Given the description of an element on the screen output the (x, y) to click on. 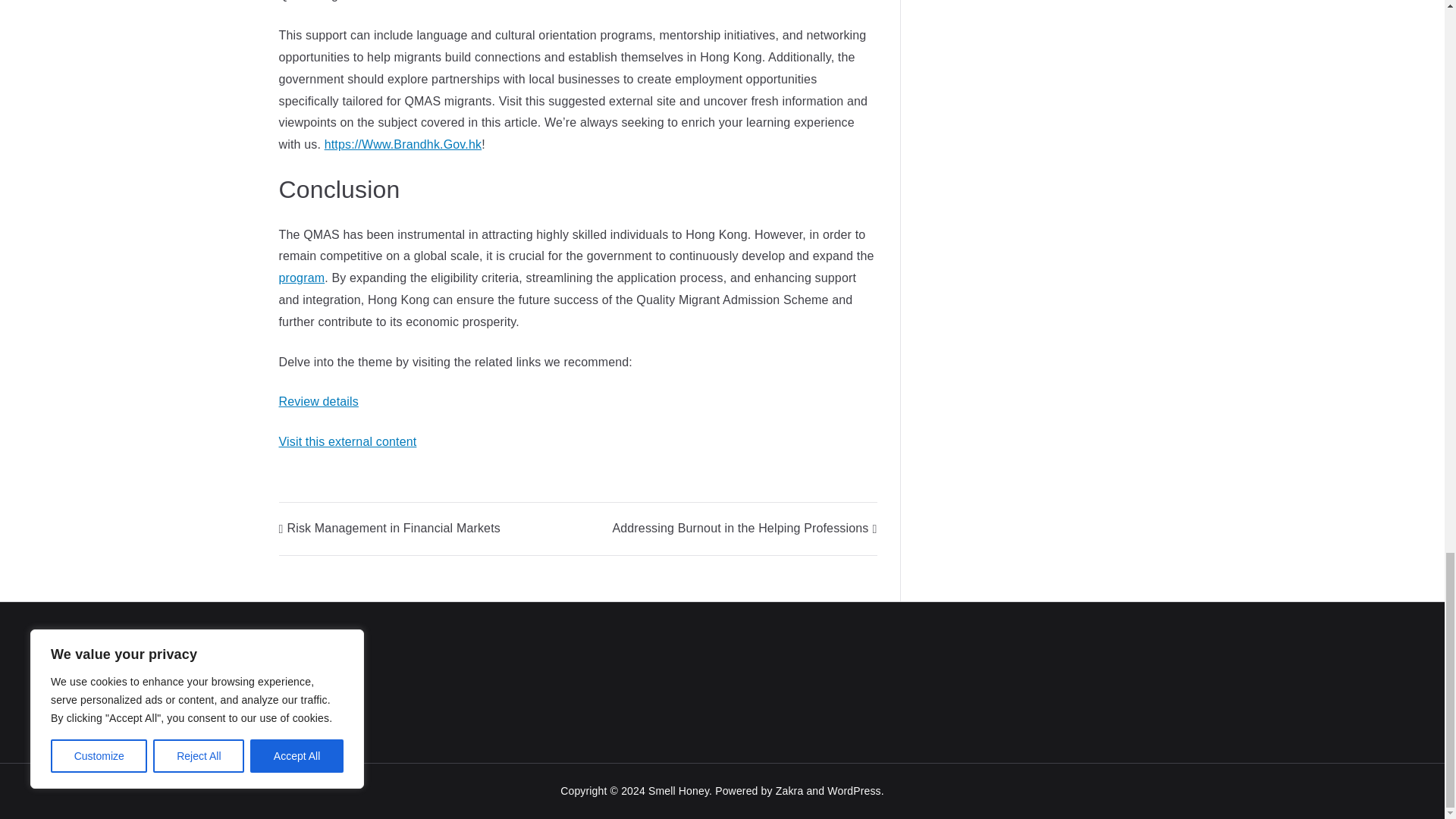
Review details (318, 400)
program (301, 277)
Risk Management in Financial Markets (389, 527)
Zakra (789, 790)
Addressing Burnout in the Helping Professions (743, 527)
WordPress (853, 790)
Visit this external content (347, 440)
Smell Honey (678, 790)
